Given the description of an element on the screen output the (x, y) to click on. 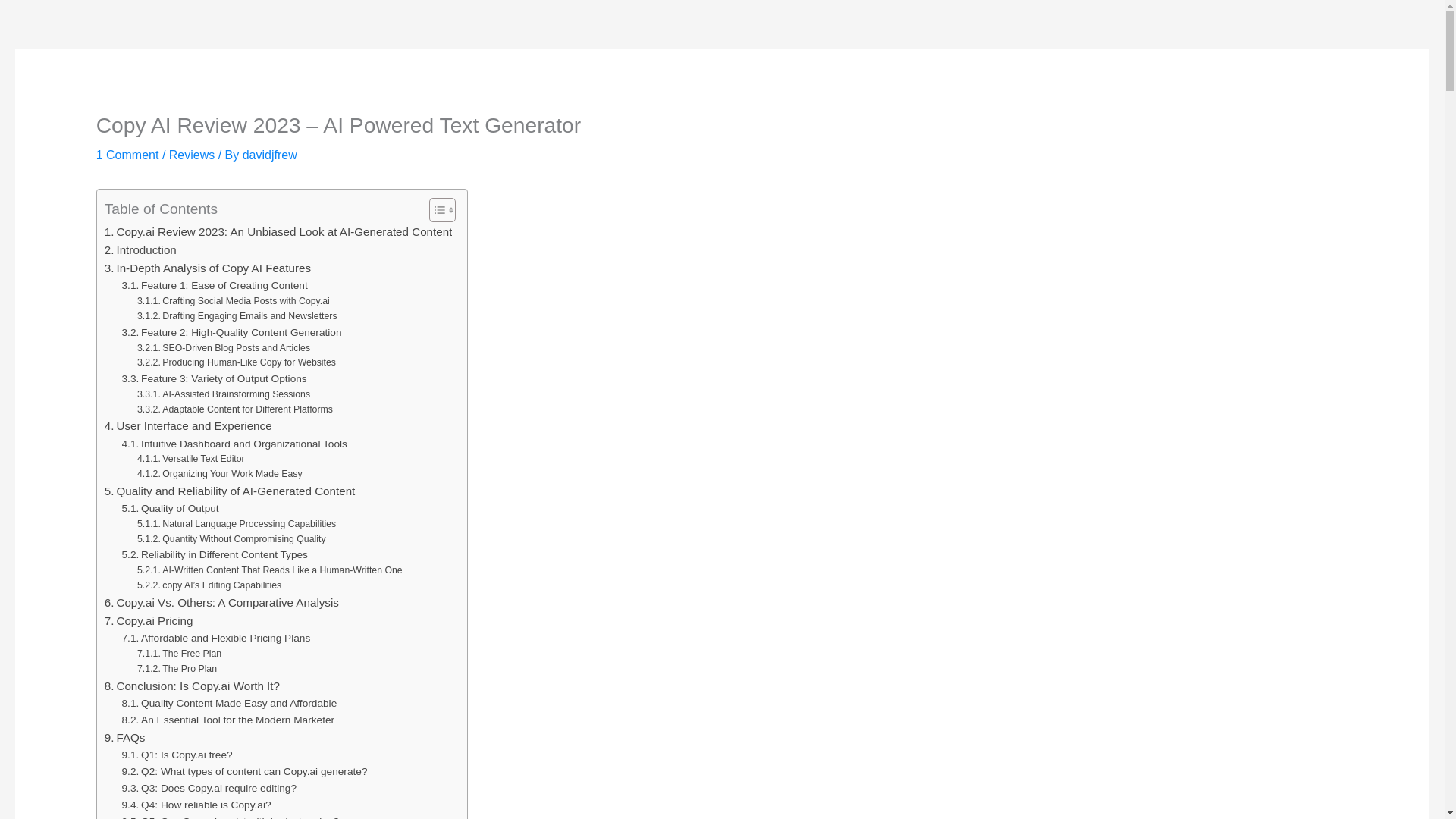
View all posts by davidjfrew (270, 154)
Feature 1: Ease of Creating Content (214, 285)
Crafting Social Media Posts with Copy.ai (233, 301)
Intuitive Dashboard and Organizational Tools (234, 443)
Producing Human-Like Copy for Websites (236, 363)
Introduction (140, 249)
Drafting Engaging Emails and Newsletters (236, 316)
AI-Assisted Brainstorming Sessions (223, 394)
In-Depth Analysis of Copy AI Features (207, 268)
SEO-Driven Blog Posts and Articles (223, 348)
Feature 3: Variety of Output Options (214, 379)
Feature 2: High-Quality Content Generation (232, 332)
User Interface and Experience (188, 425)
Adaptable Content for Different Platforms (234, 409)
